Given the description of an element on the screen output the (x, y) to click on. 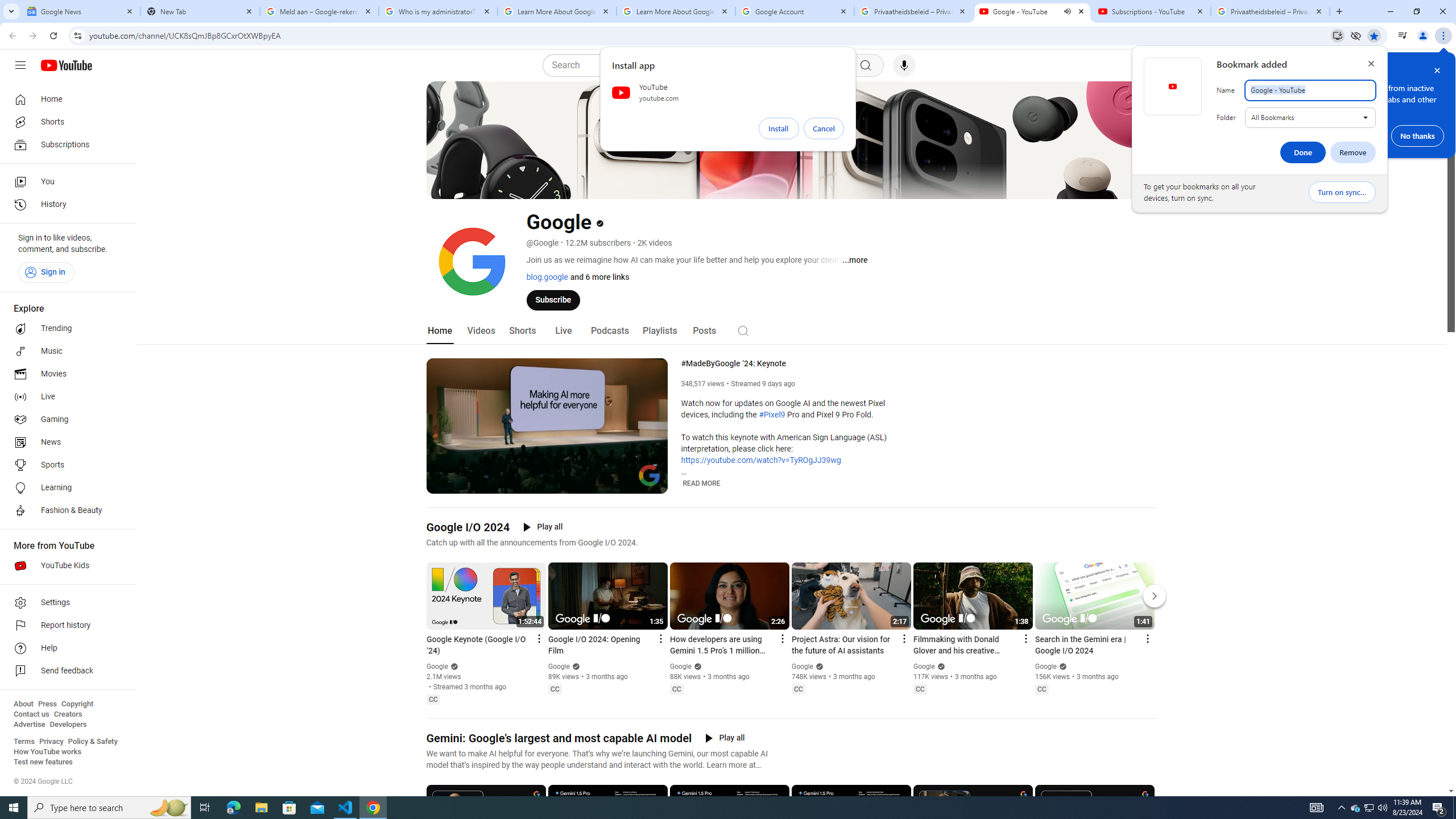
Send feedback (64, 671)
MadeByGoogle '24: Intro (560, 483)
Press (46, 703)
Sports (64, 464)
Google - YouTube - Audio playing (1032, 11)
Channel watermark (649, 475)
READ MORE (701, 482)
Creators (67, 714)
